Given the description of an element on the screen output the (x, y) to click on. 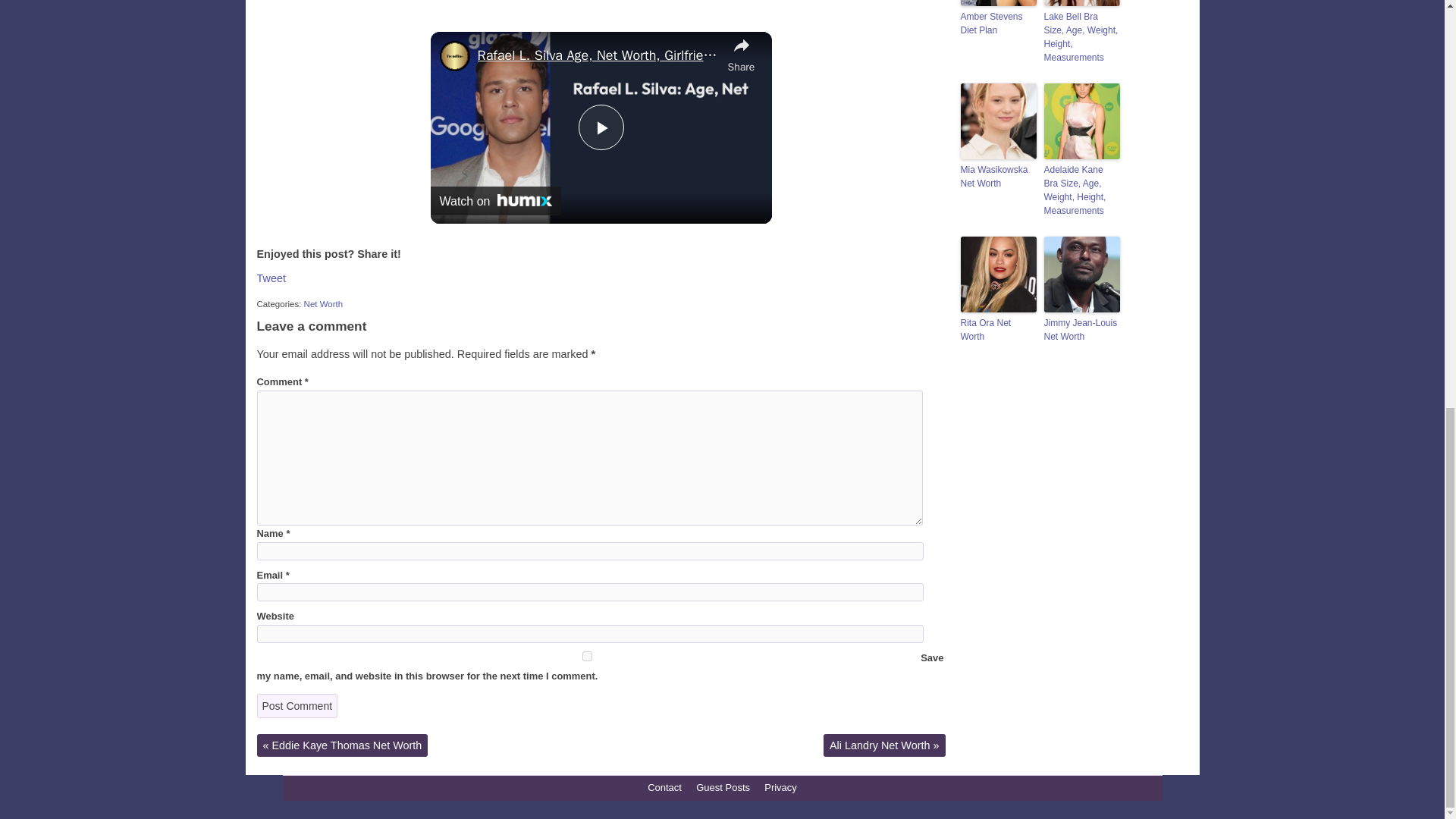
Play Video (600, 126)
yes (586, 655)
share (741, 53)
Post Comment (296, 705)
